Given the description of an element on the screen output the (x, y) to click on. 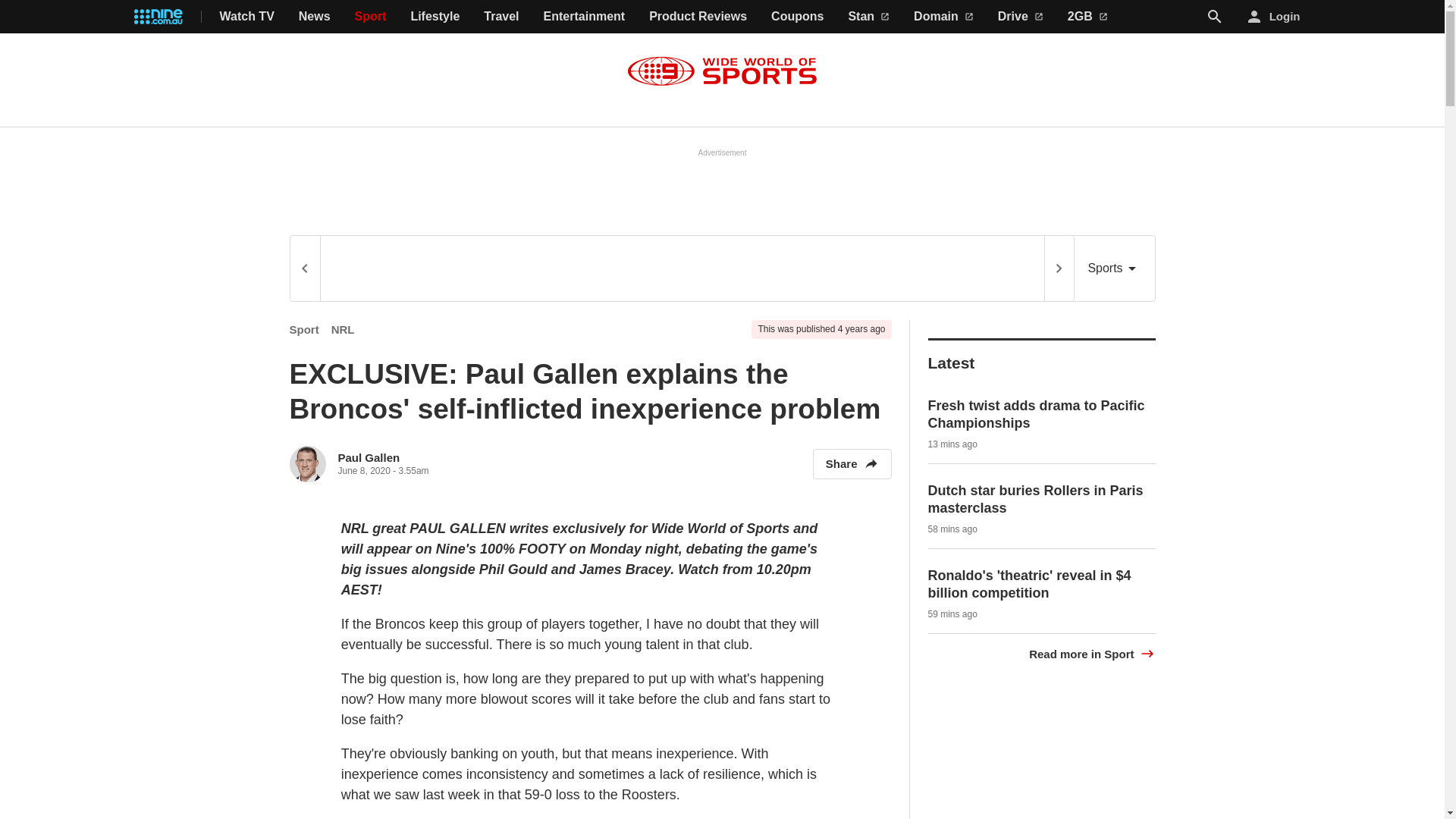
News (314, 16)
Search (1214, 16)
Sports (1114, 268)
Share (851, 463)
Stan (868, 16)
Search (1214, 16)
Fresh twist adds drama to Pacific Championships (1036, 414)
Watch TV (247, 16)
Domain (944, 16)
Read more in Sport (1091, 653)
